Given the description of an element on the screen output the (x, y) to click on. 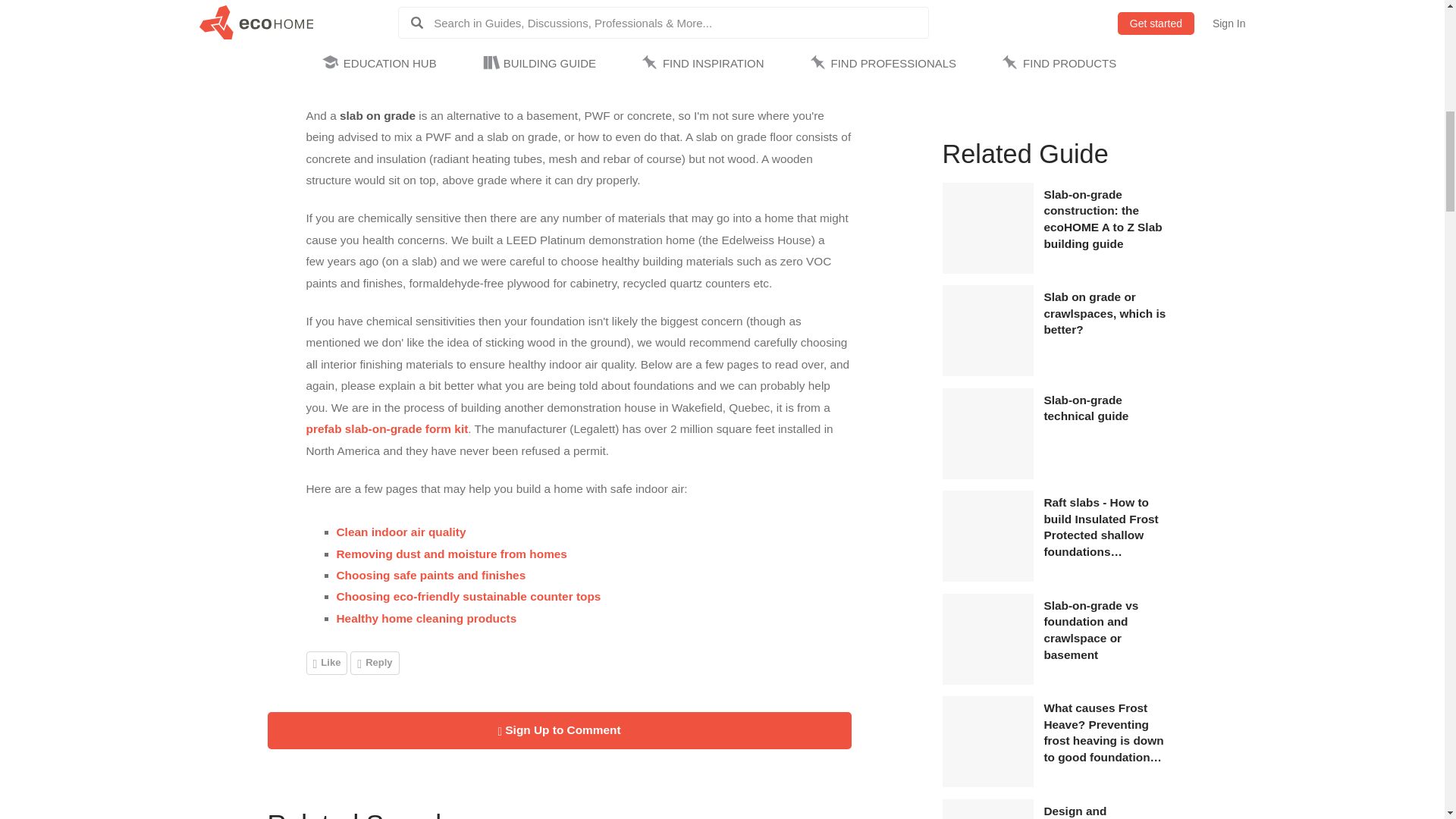
Slab-on-grade technical guide (1107, 408)
How to build a Slab-on-Grade (987, 475)
Slab on grade or crawlspaces, which is better? (1107, 313)
Slab-on-grade vs foundation and crawlspace or basement (1107, 629)
Frost Heave Prevention or How to Stop Frost Heaving (987, 783)
Frost Protected Shallow Foundations Forms (987, 577)
